Given the description of an element on the screen output the (x, y) to click on. 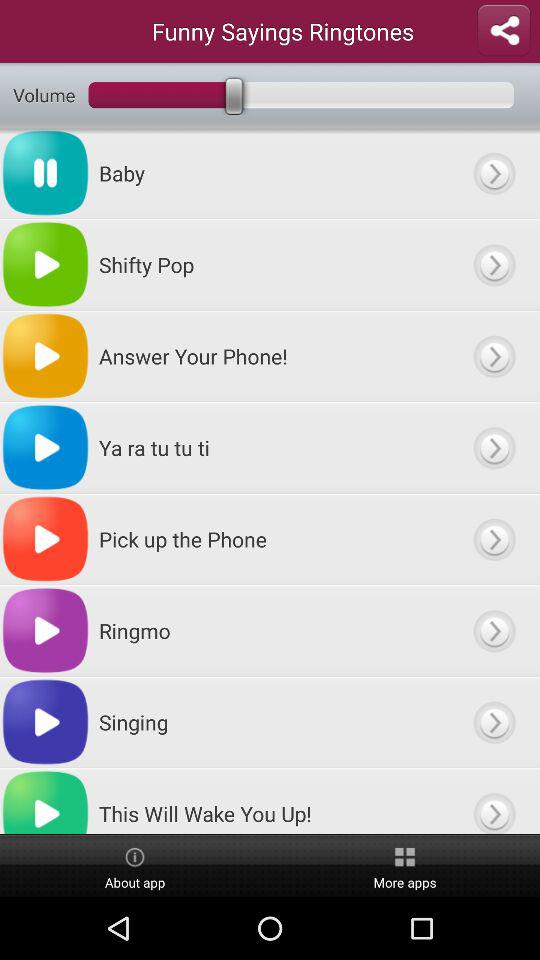
select ringtone (494, 447)
